Given the description of an element on the screen output the (x, y) to click on. 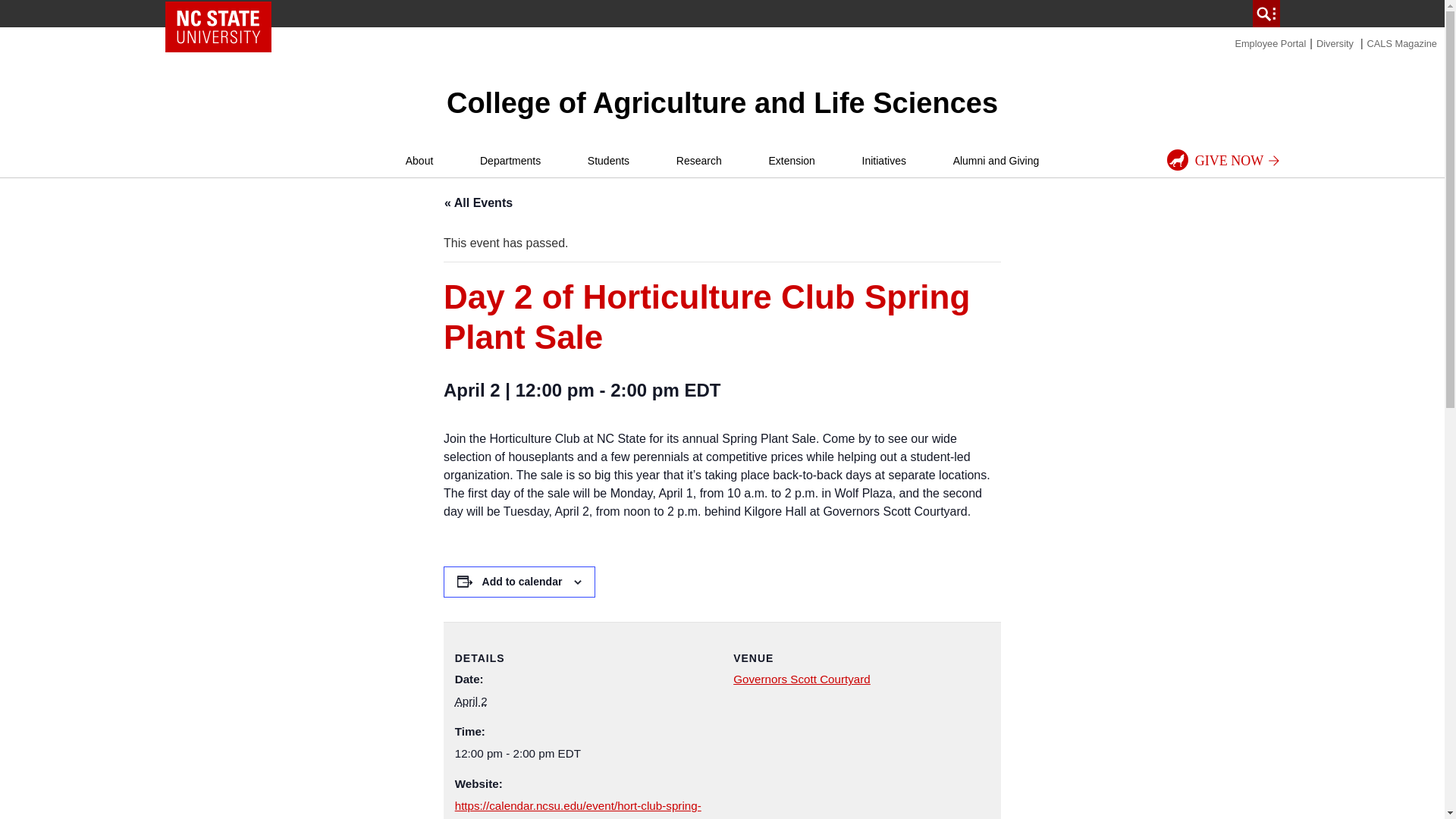
CALS Magazine (1402, 43)
Employee Portal (1270, 43)
About (419, 161)
2024-04-02 (470, 700)
Departments (509, 161)
2024-04-02 (582, 753)
Diversity (1335, 43)
NC State Home (217, 26)
Students (608, 161)
College of Agriculture and Life Sciences (721, 102)
